Given the description of an element on the screen output the (x, y) to click on. 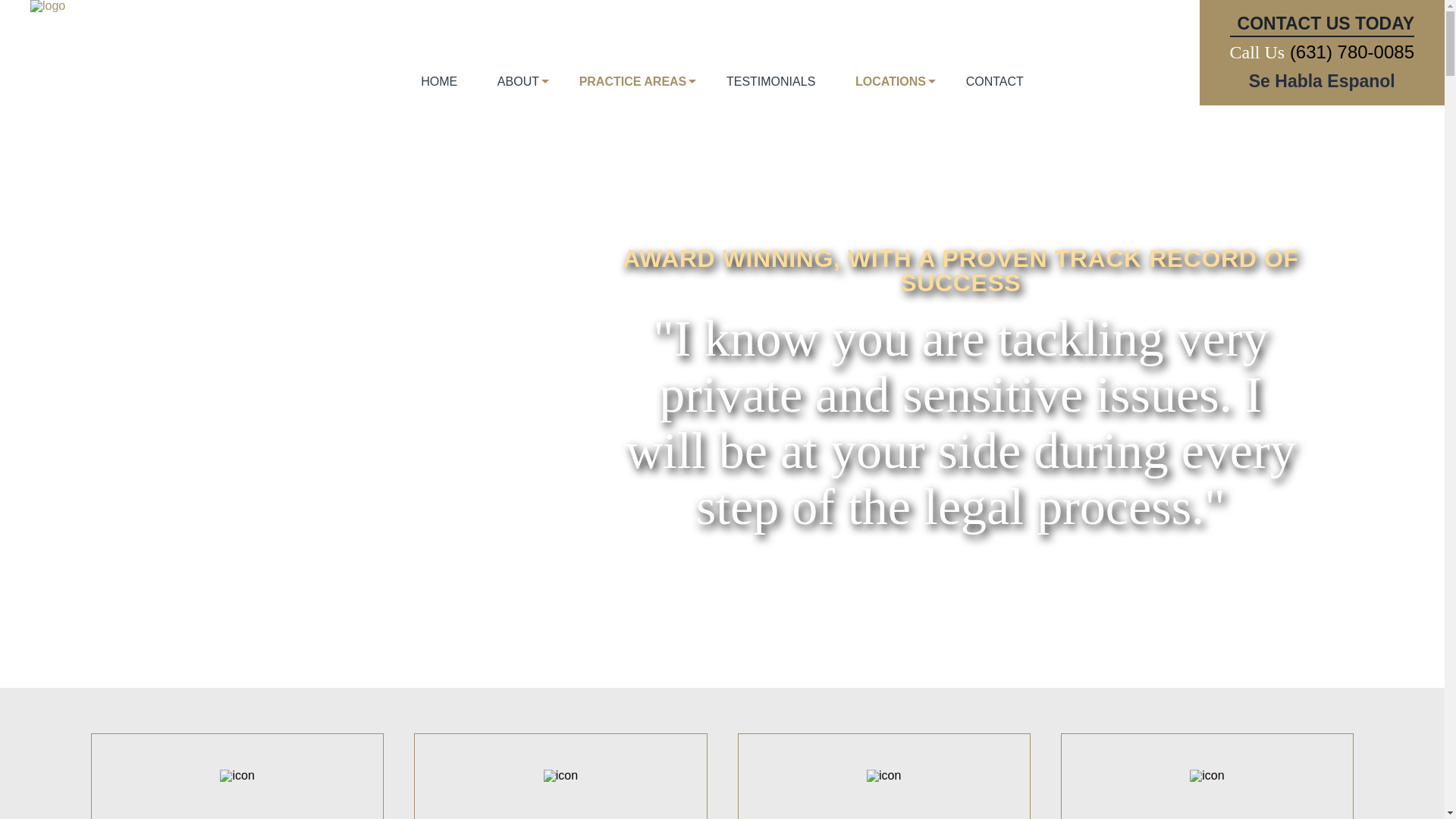
TESTIMONIALS (770, 91)
HOME (438, 91)
LOCATIONS (891, 91)
Se Habla Espanol (1321, 80)
PRACTICE AREAS (633, 91)
ABOUT (517, 91)
CONTACT (994, 91)
